Given the description of an element on the screen output the (x, y) to click on. 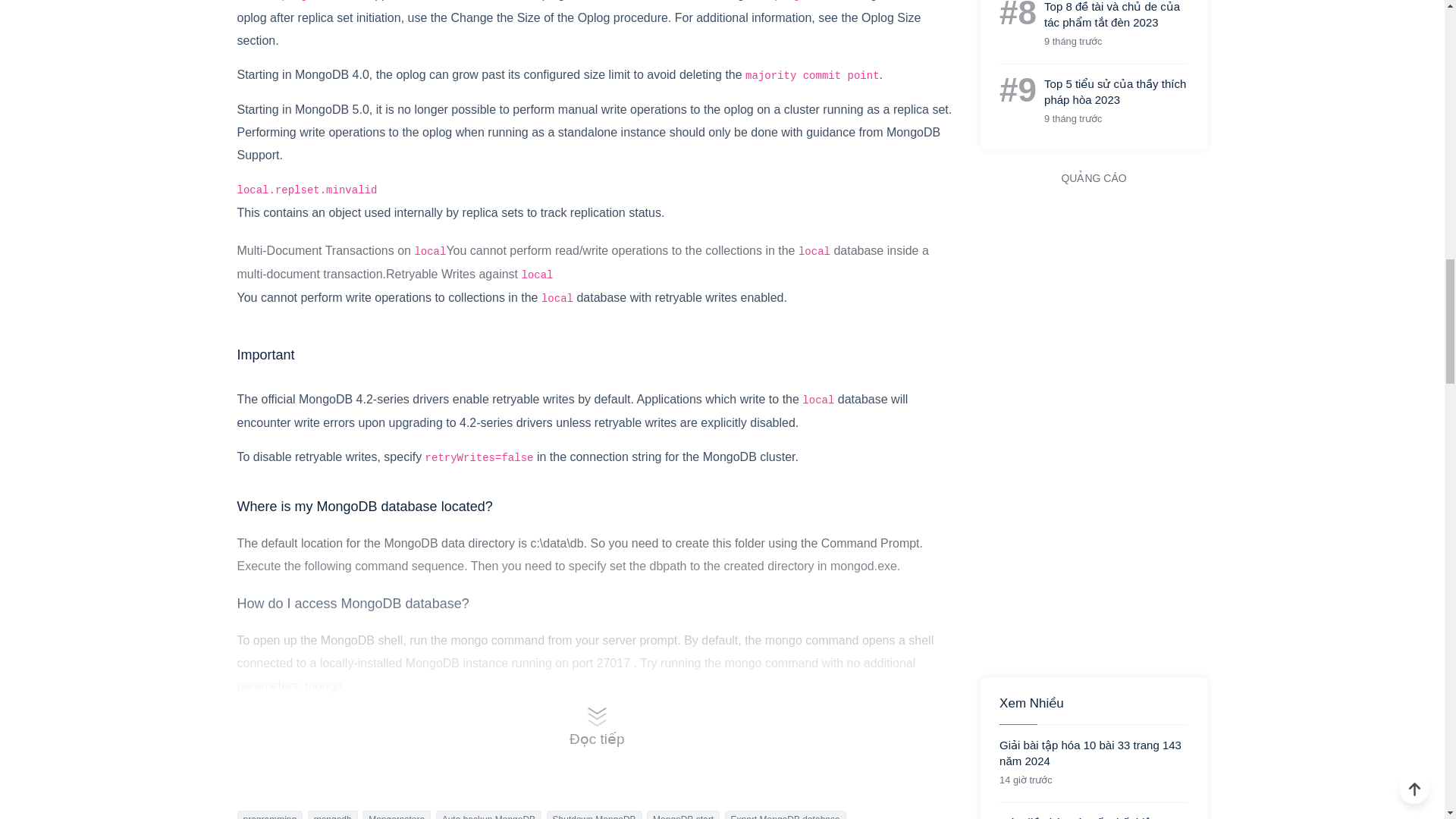
Auto backup MongoDB (488, 814)
Mongorestore (396, 814)
mongodb (332, 814)
Shutdown MongoDB (594, 814)
programming (268, 814)
Export MongoDB database (785, 814)
MongoDB start (682, 814)
